Given the description of an element on the screen output the (x, y) to click on. 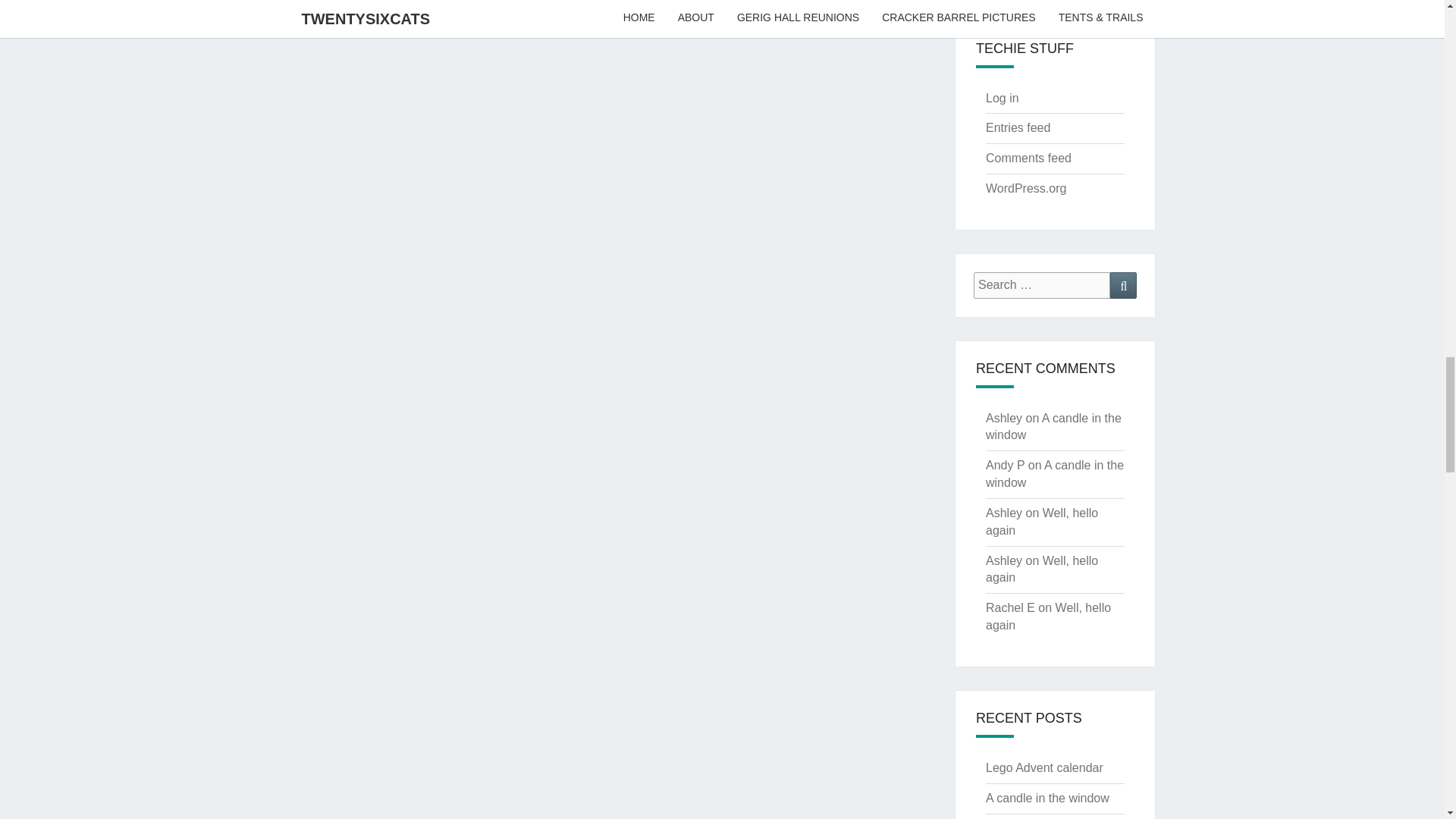
Search for: (1041, 284)
